Given the description of an element on the screen output the (x, y) to click on. 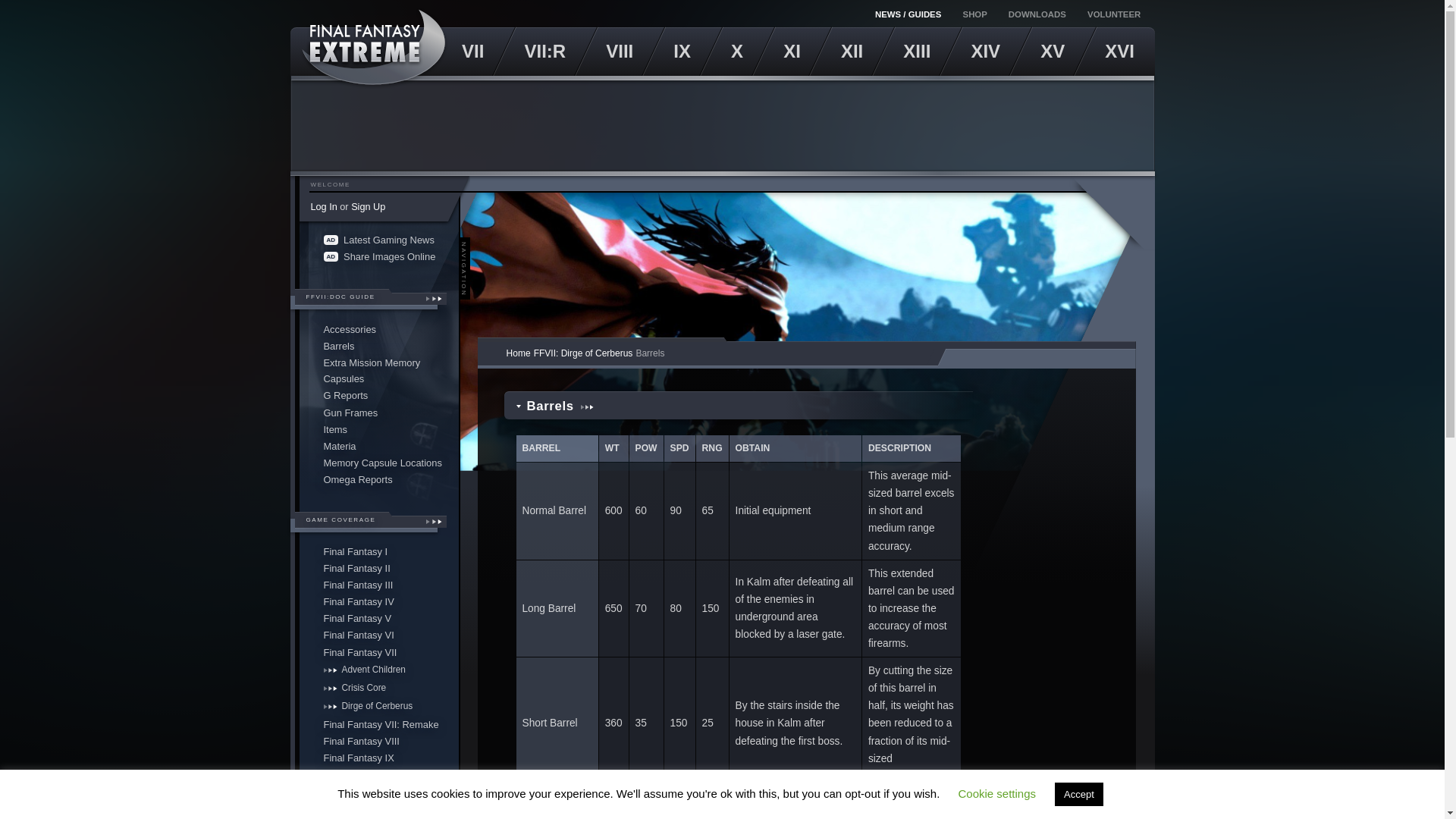
SHOP (976, 13)
VII (472, 51)
XIII (916, 51)
Advertisement (722, 125)
Items (378, 428)
Final Fantasy II (378, 568)
Crisis Core (378, 688)
Barrels (378, 345)
Final Fantasy VII (378, 651)
G Reports (378, 395)
